Given the description of an element on the screen output the (x, y) to click on. 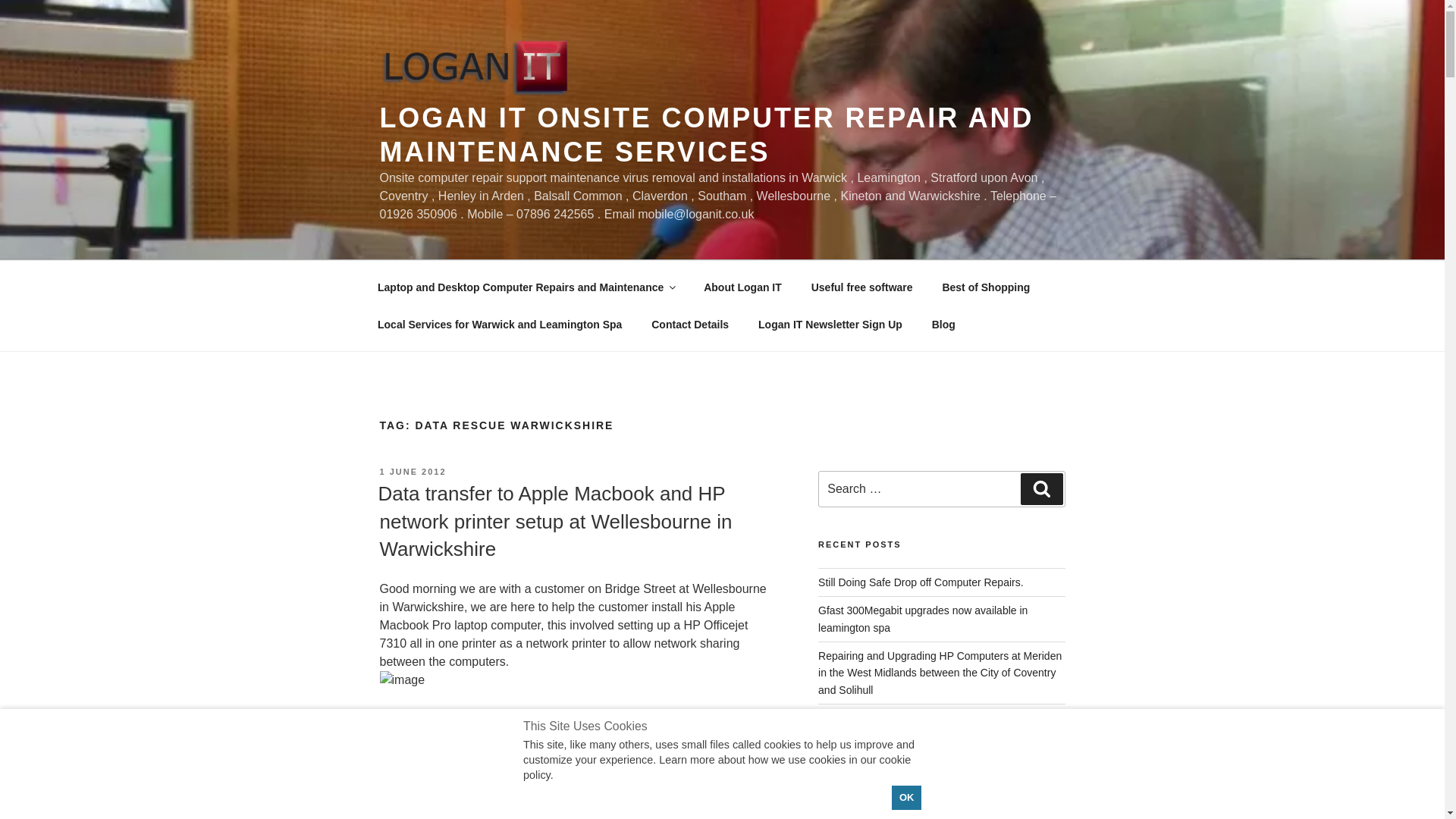
Useful free software (861, 286)
Blog (943, 324)
Laptop and Desktop Computer Repairs and Maintenance (525, 286)
LOGAN IT ONSITE COMPUTER REPAIR AND MAINTENANCE SERVICES (705, 134)
Local Services for Warwick and Leamington Spa (499, 324)
Contact Details (690, 324)
Logan IT Newsletter Sign Up (830, 324)
IMAGE00265.jpg (401, 752)
IMAGE00266.jpg (401, 679)
About Logan IT (742, 286)
1 JUNE 2012 (411, 470)
Best of Shopping (985, 286)
